Given the description of an element on the screen output the (x, y) to click on. 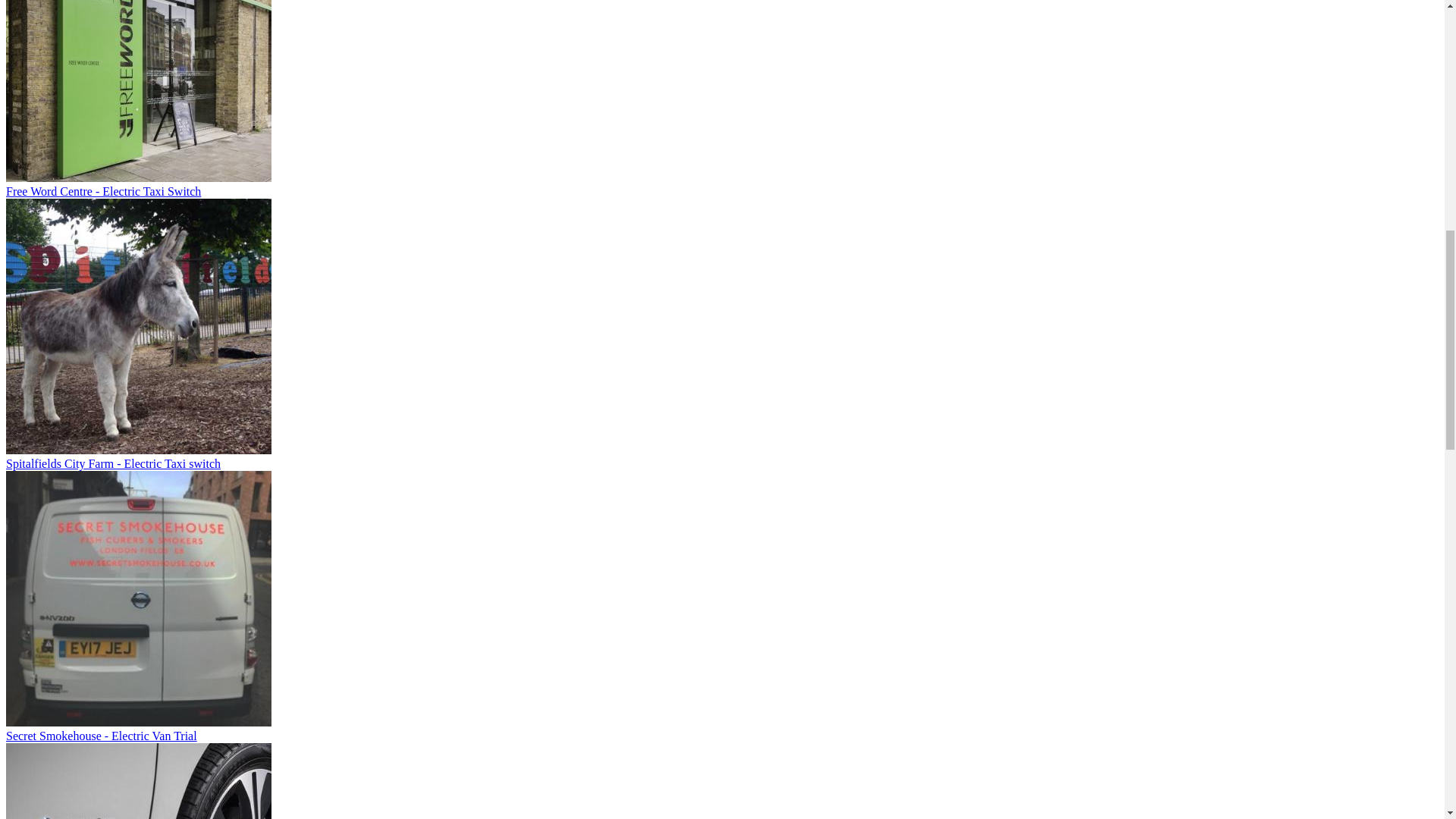
Free Word Centre - Electric Taxi Switch (102, 191)
Spitalfields City Farm - Electric Taxi switch (113, 463)
Secret Smokehouse - Electric Van Trial (100, 735)
Free Word Centre (137, 90)
